Given the description of an element on the screen output the (x, y) to click on. 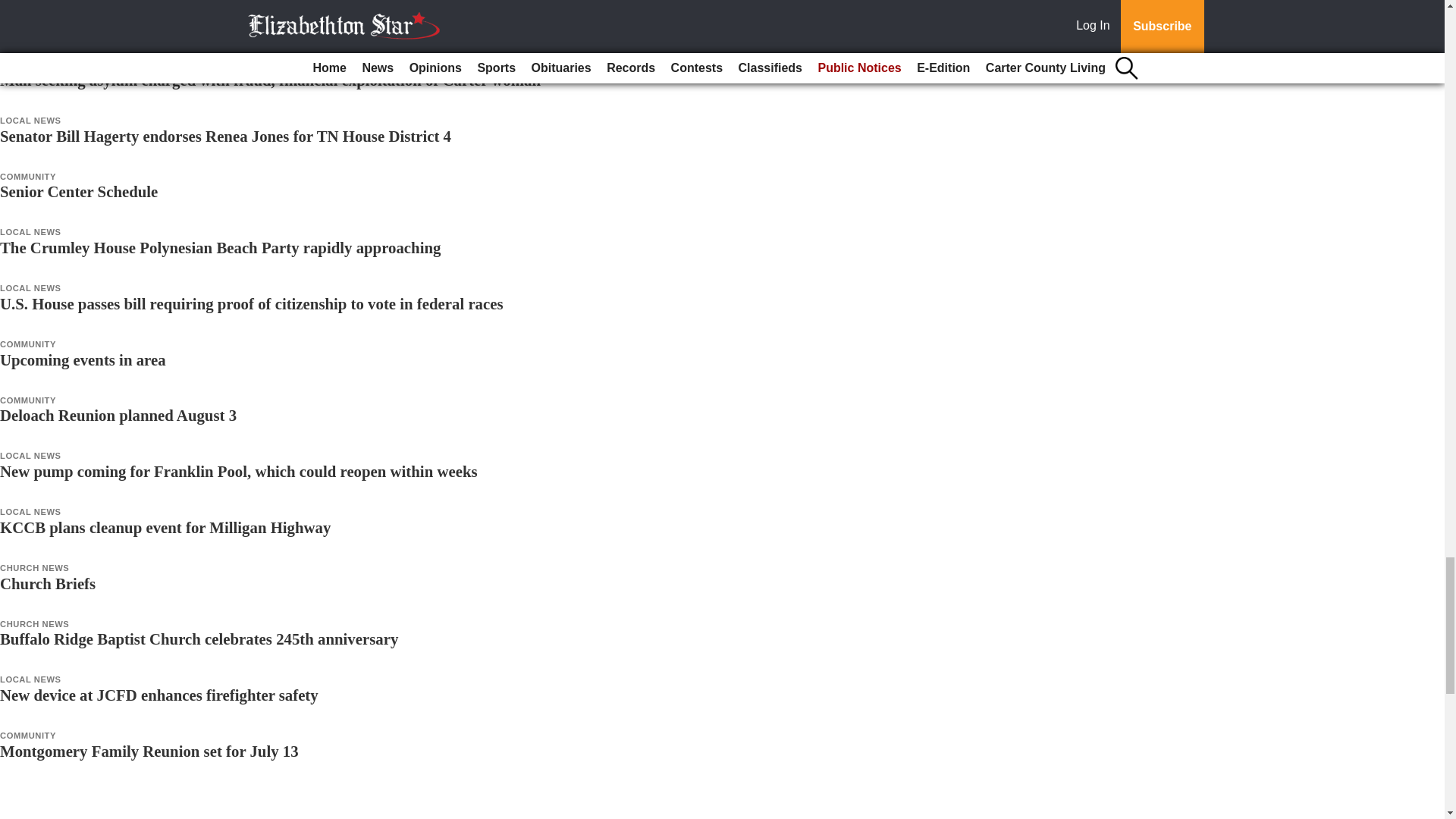
Upcoming events in area (82, 359)
Deloach Reunion planned August 3 (117, 415)
The Crumley House Polynesian Beach Party rapidly approaching (220, 247)
Senior Center Schedule (78, 190)
